Given the description of an element on the screen output the (x, y) to click on. 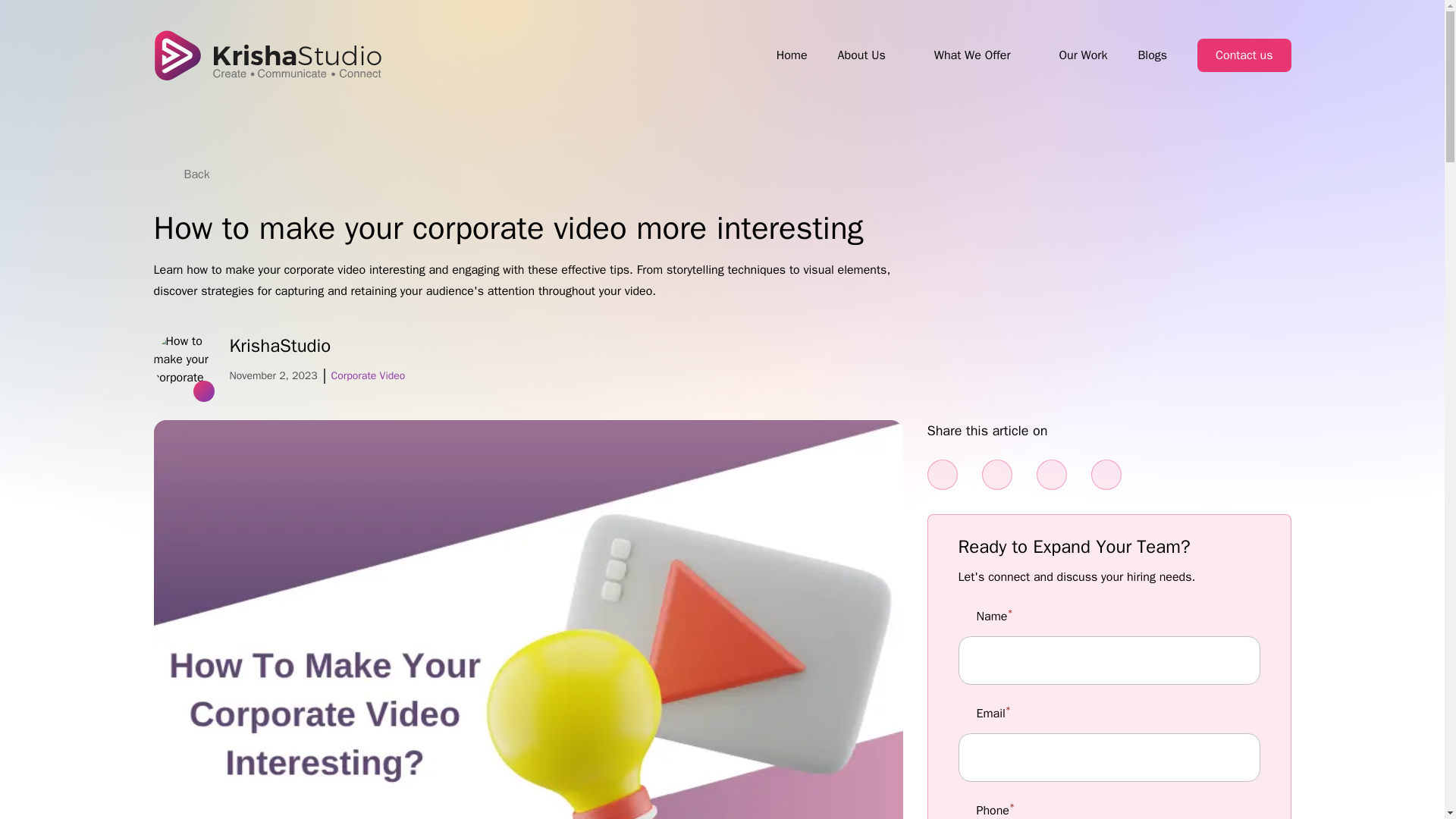
Our Work (1082, 55)
Back (186, 174)
What We Offer (972, 55)
Blogs (1152, 55)
Corporate Video (368, 375)
Contact us (1243, 55)
Home (792, 55)
About Us (861, 55)
